Given the description of an element on the screen output the (x, y) to click on. 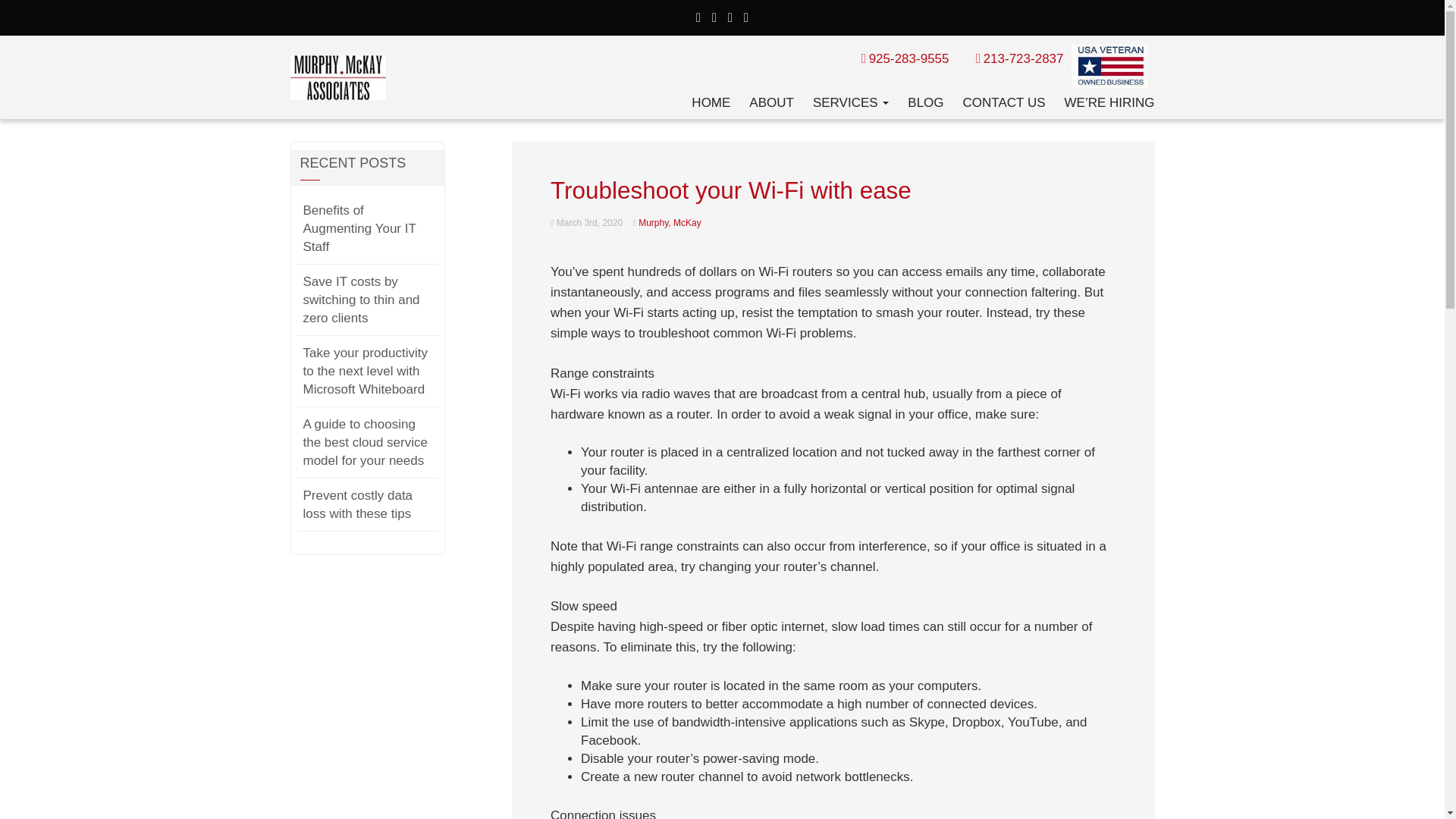
CONTACT US (1003, 102)
Murphy, McKay (669, 222)
HOME (710, 102)
SERVICES (850, 102)
ABOUT (771, 102)
BLOG (925, 102)
Save IT costs by switching to thin and zero clients (361, 299)
Benefits of Augmenting Your IT Staff (359, 228)
Posts by Murphy, McKay (669, 222)
Prevent costly data loss with these tips (357, 504)
925-283-9555    213-723-2837 (962, 58)
